Given the description of an element on the screen output the (x, y) to click on. 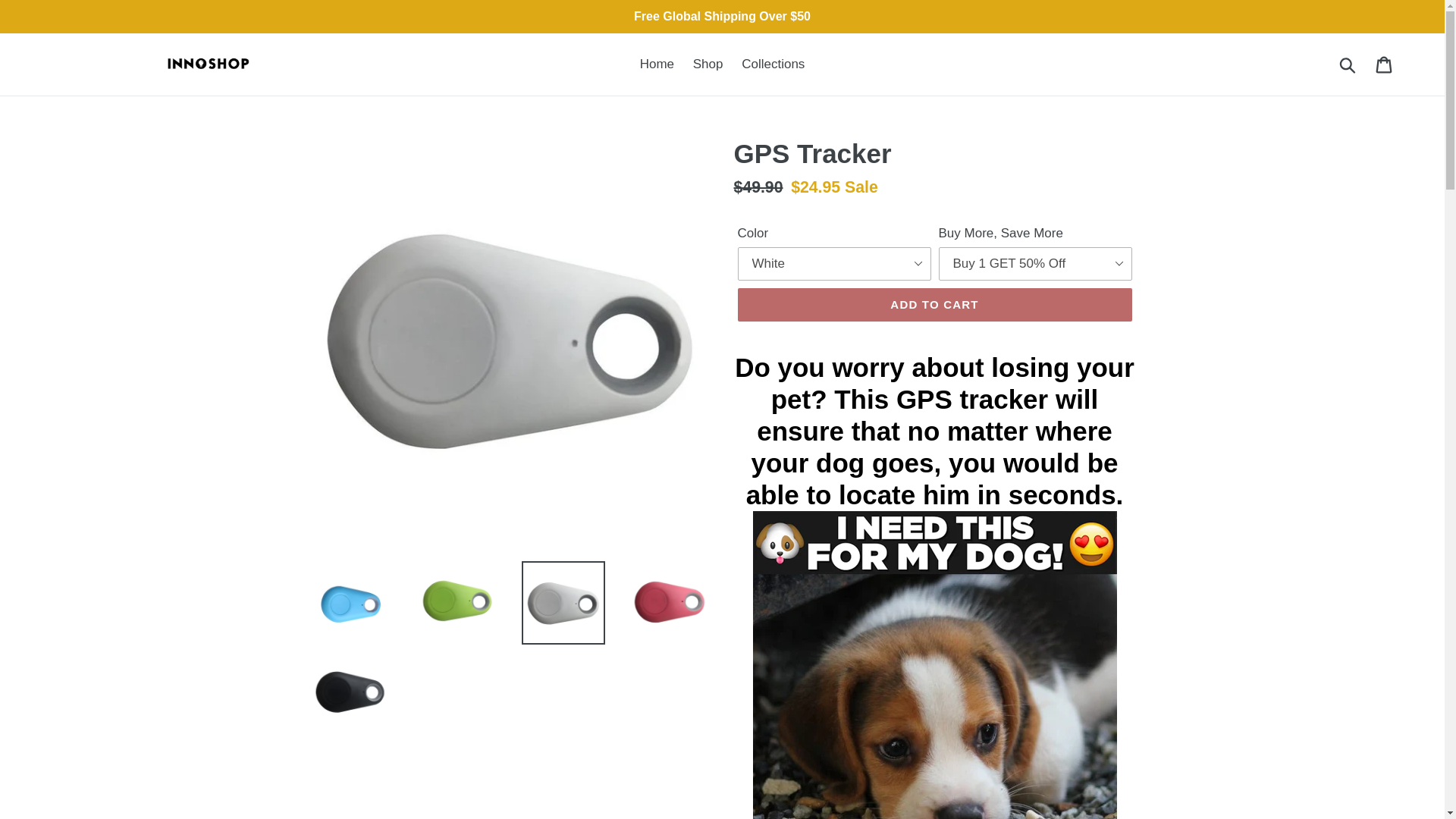
Collections (772, 64)
Cart (1385, 63)
Shop (707, 64)
Submit (1348, 64)
Home (656, 64)
ADD TO CART (933, 304)
